Given the description of an element on the screen output the (x, y) to click on. 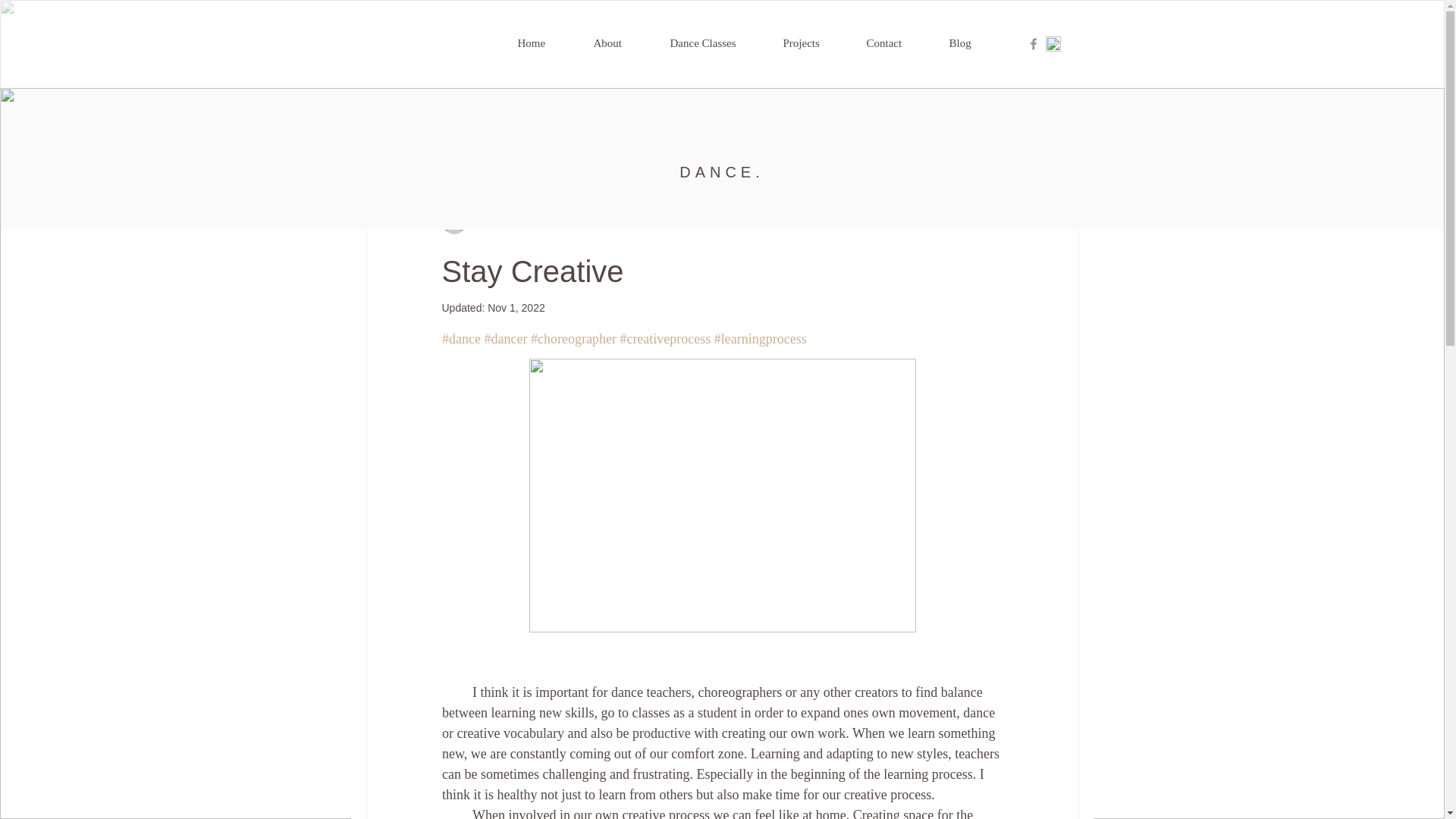
DANCE. (721, 171)
Projects (816, 43)
BLOG (379, 117)
Blog (976, 43)
Oct 19, 2022 (634, 221)
Home (547, 43)
Nov 1, 2022 (515, 307)
Contact (899, 43)
About (623, 43)
1 min read (703, 221)
